Given the description of an element on the screen output the (x, y) to click on. 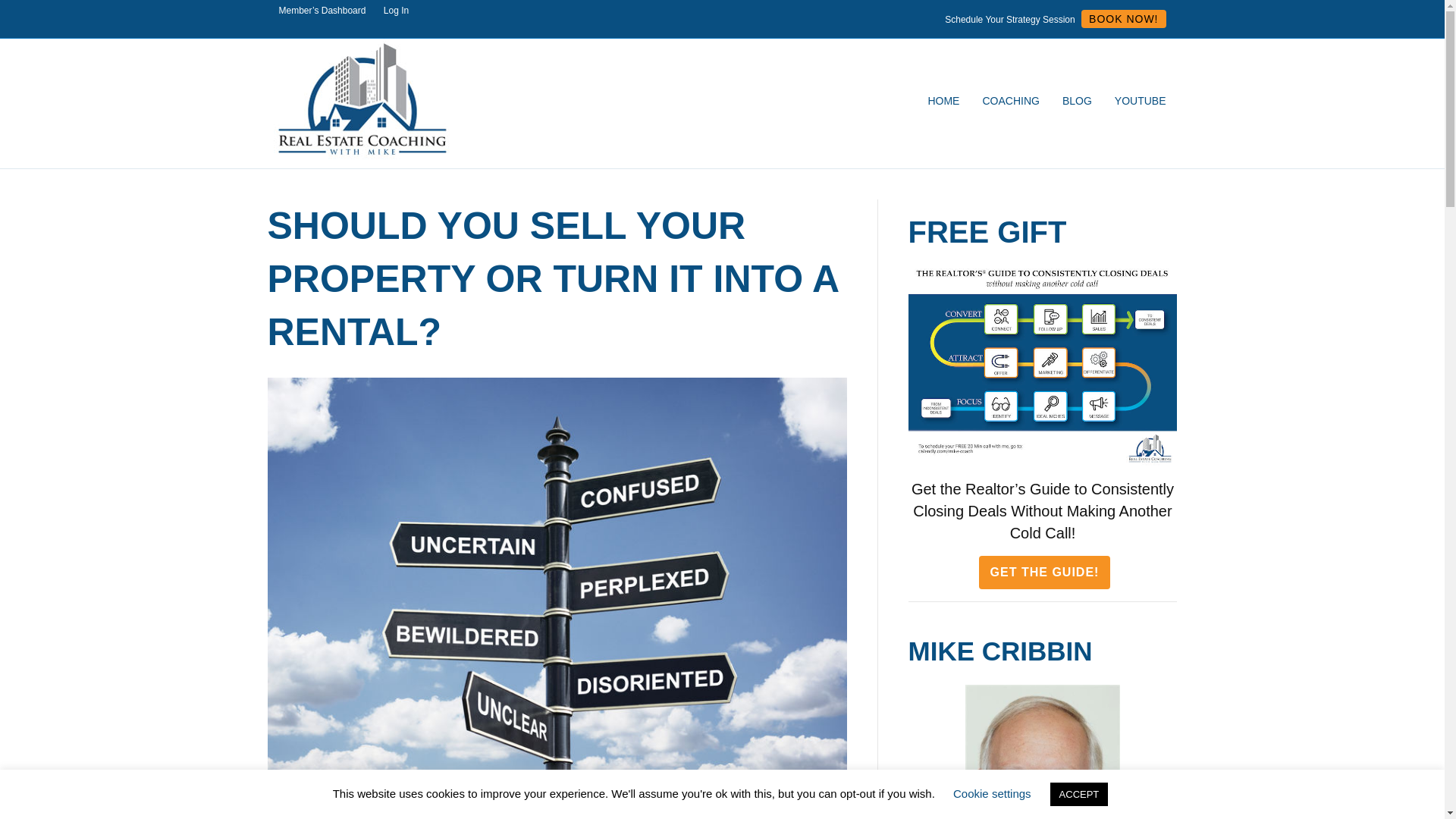
Log In (395, 10)
HOME (943, 101)
BLOG (1077, 101)
BOOK NOW! (1123, 18)
GET THE GUIDE! (1044, 572)
YOUTUBE (1140, 101)
COACHING (1010, 101)
